Given the description of an element on the screen output the (x, y) to click on. 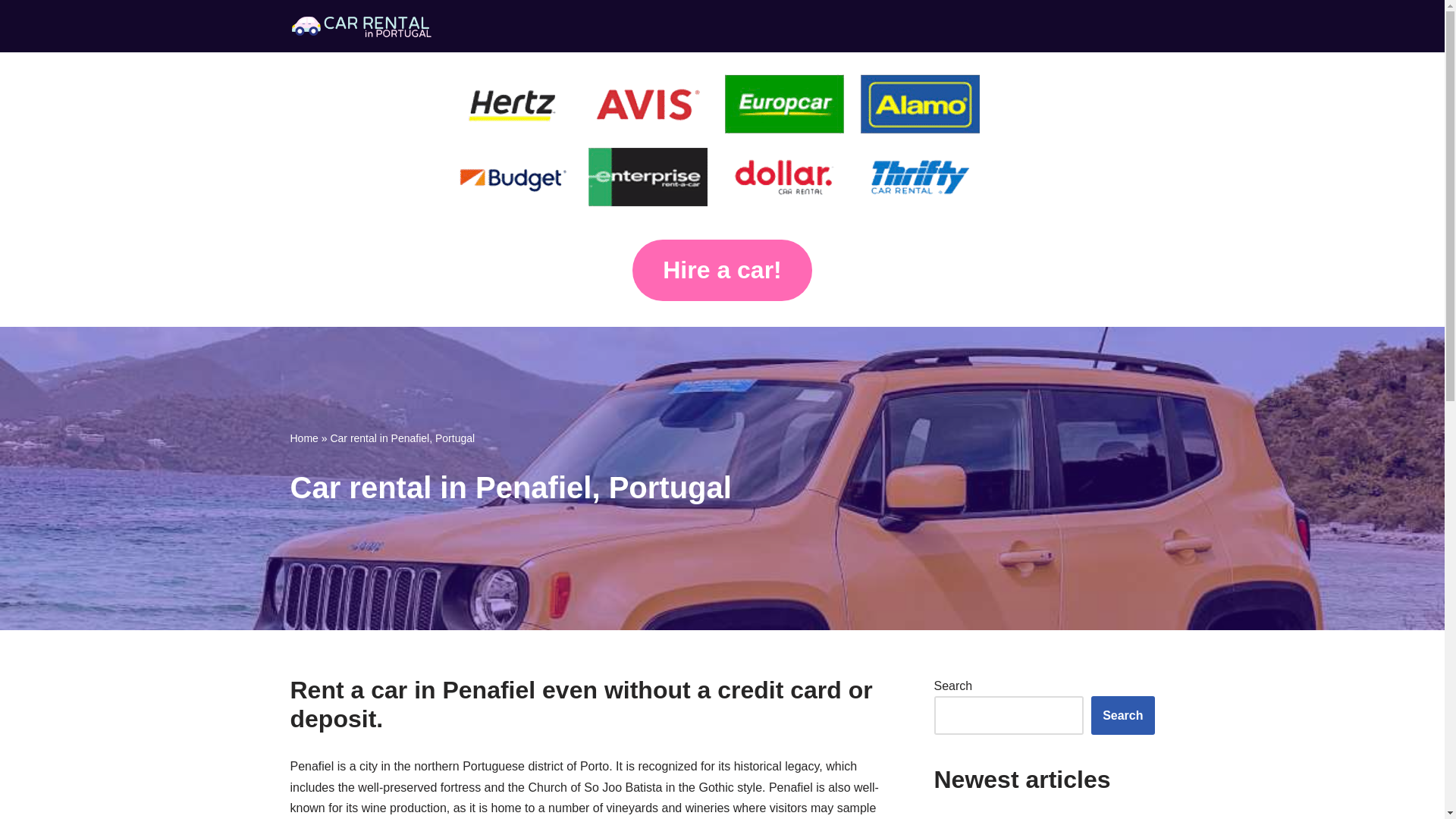
Hire a car! (721, 270)
Car Rental in Portugal (362, 25)
Skip to content (11, 31)
Search (1122, 715)
Hire a car! (721, 273)
Home (303, 438)
